Given the description of an element on the screen output the (x, y) to click on. 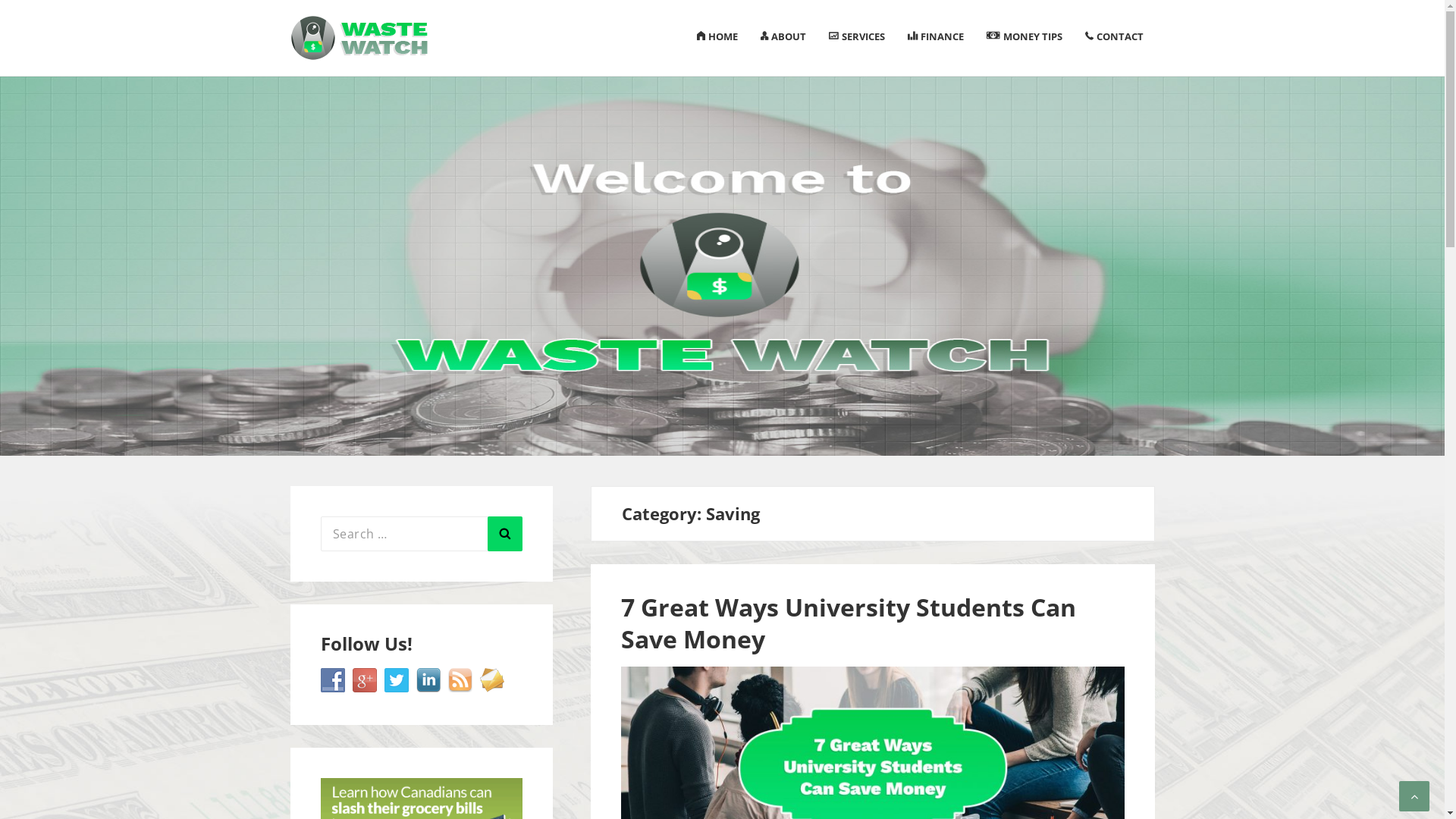
Follow Us on RSS Element type: hover (459, 680)
CONTACT Element type: text (1113, 36)
7 Great Ways University Students Can Save Money Element type: text (848, 622)
HOME Element type: text (717, 36)
Follow Us on Facebook Element type: hover (332, 680)
Follow Us on LinkedIn Element type: hover (427, 680)
Follow Us on E-mail Element type: hover (491, 680)
SERVICES Element type: text (856, 36)
FINANCE Element type: text (935, 36)
MONEY TIPS Element type: text (1024, 37)
Search Element type: text (504, 533)
Follow Us on Twitter Element type: hover (395, 680)
ABOUT Element type: text (783, 36)
Follow Us on Google+ Element type: hover (363, 680)
